Given the description of an element on the screen output the (x, y) to click on. 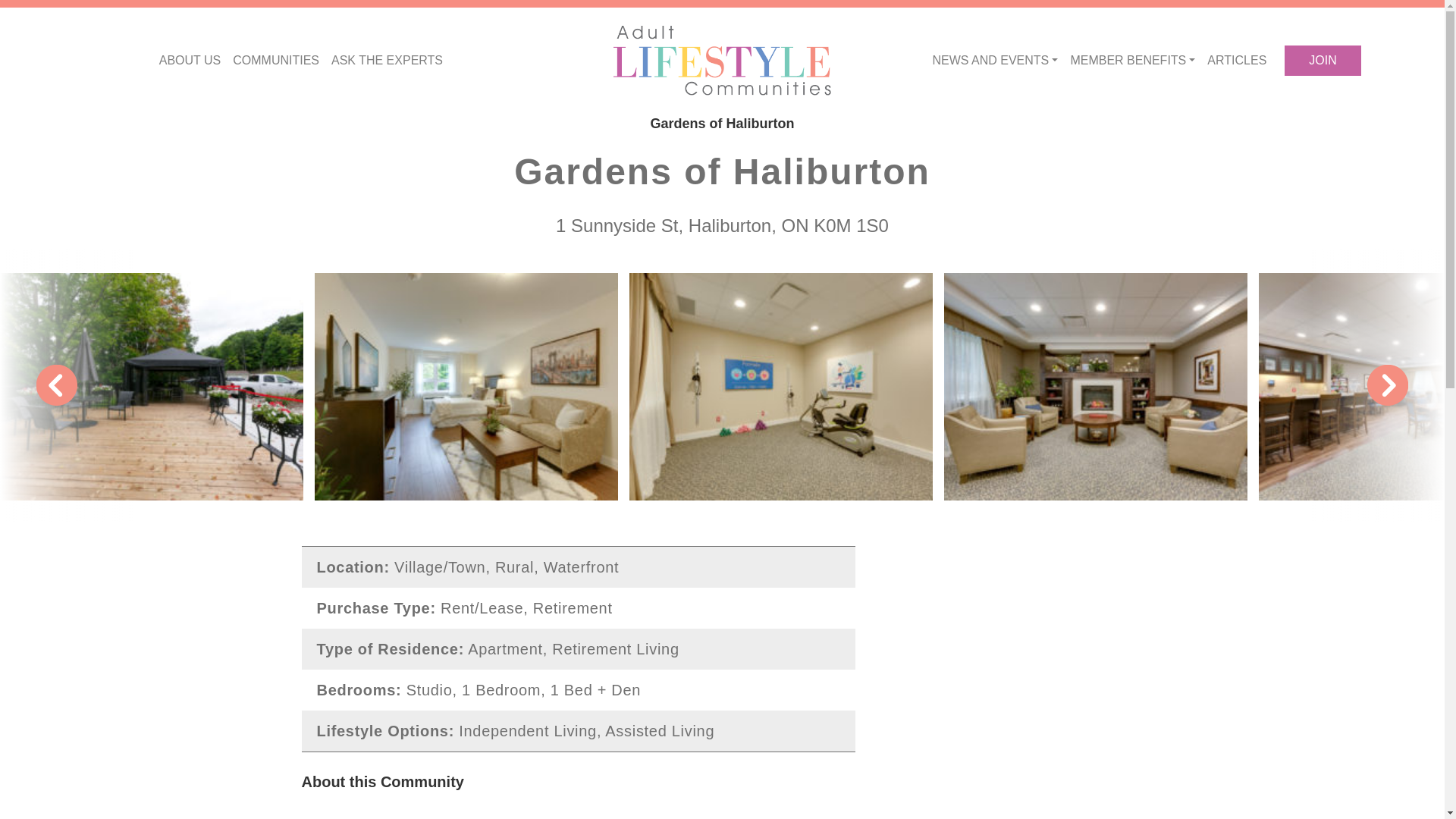
About Us (189, 60)
Join (1321, 60)
MEMBER BENEFITS (1132, 60)
ASK THE EXPERTS (386, 60)
JOIN (1321, 60)
NEWS AND EVENTS (995, 60)
Member Benefits (1132, 60)
ARTICLES (1236, 60)
Communities (275, 60)
Articles (1236, 60)
COMMUNITIES (275, 60)
ABOUT US (189, 60)
Ask The Experts (386, 60)
News and Events (995, 60)
